Given the description of an element on the screen output the (x, y) to click on. 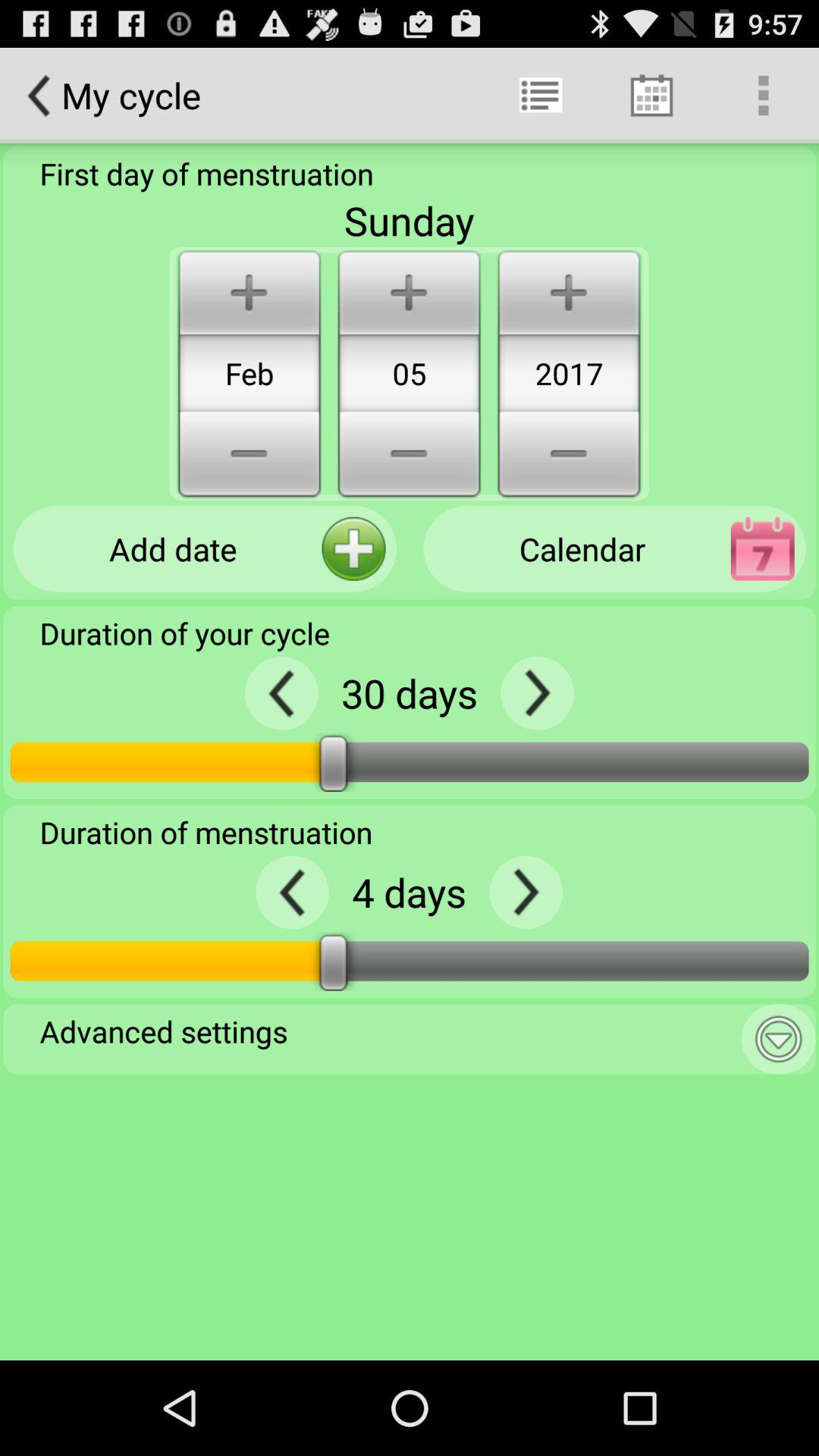
reduce duration days (281, 693)
